Given the description of an element on the screen output the (x, y) to click on. 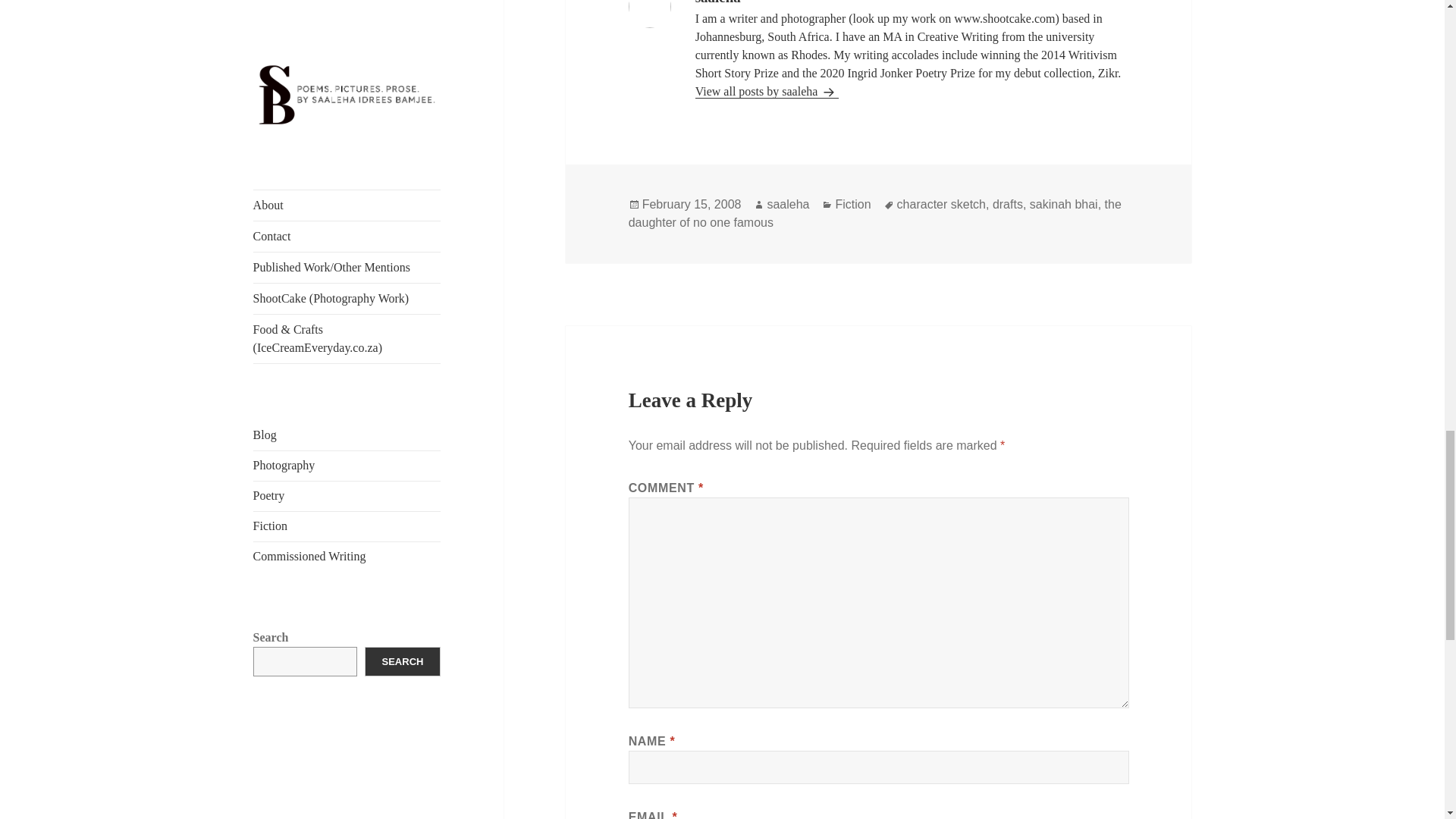
View all posts by saaleha (767, 91)
sakinah bhai (1063, 204)
saaleha (788, 204)
character sketch (940, 204)
Fiction (852, 204)
February 15, 2008 (691, 204)
drafts (1007, 204)
the daughter of no one famous (874, 214)
